Given the description of an element on the screen output the (x, y) to click on. 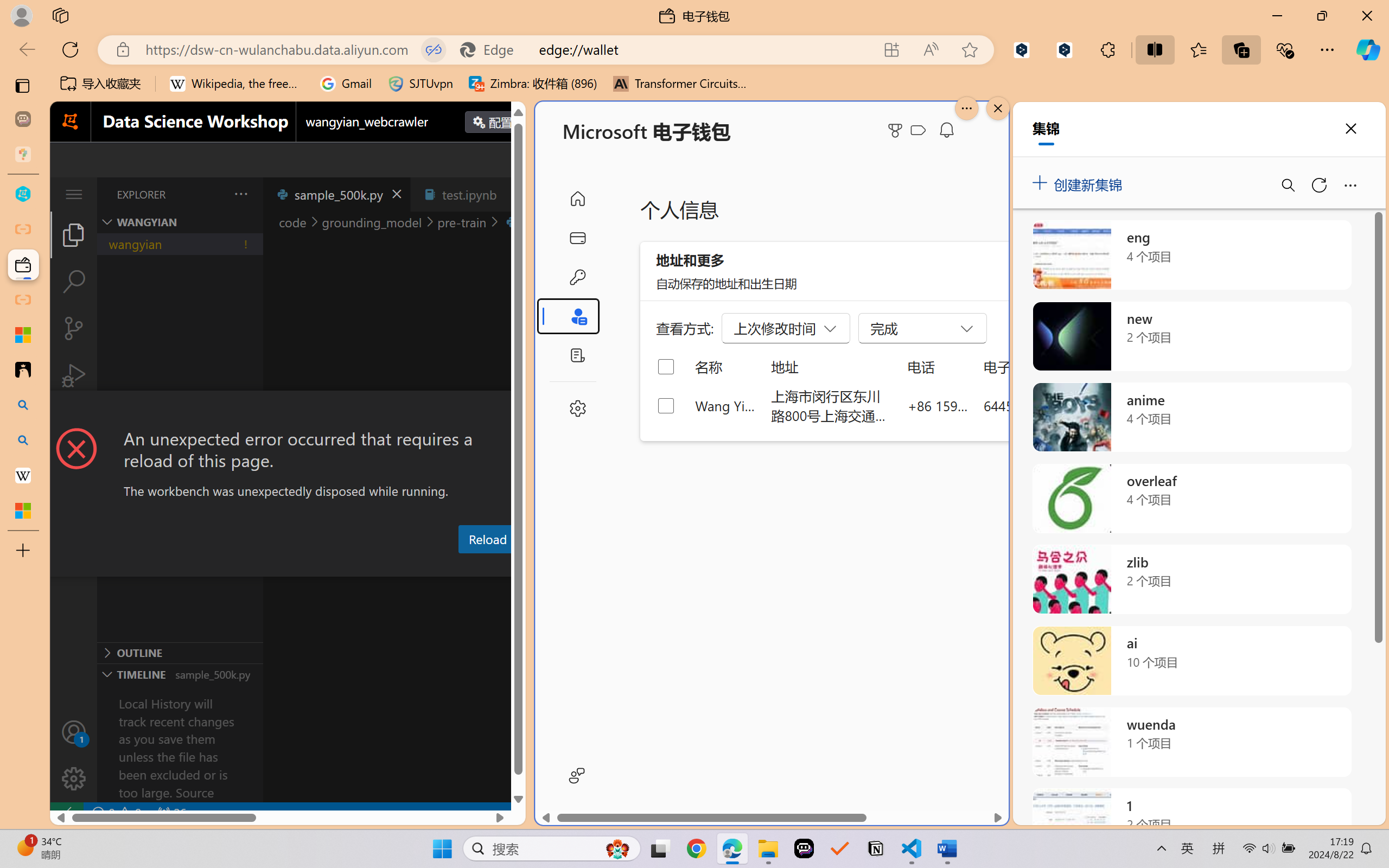
Explorer Section: wangyian (179, 221)
Views and More Actions... (240, 193)
test.ipynb (468, 194)
Extensions (Ctrl+Shift+X) (73, 422)
Transformer Circuits Thread (680, 83)
